Given the description of an element on the screen output the (x, y) to click on. 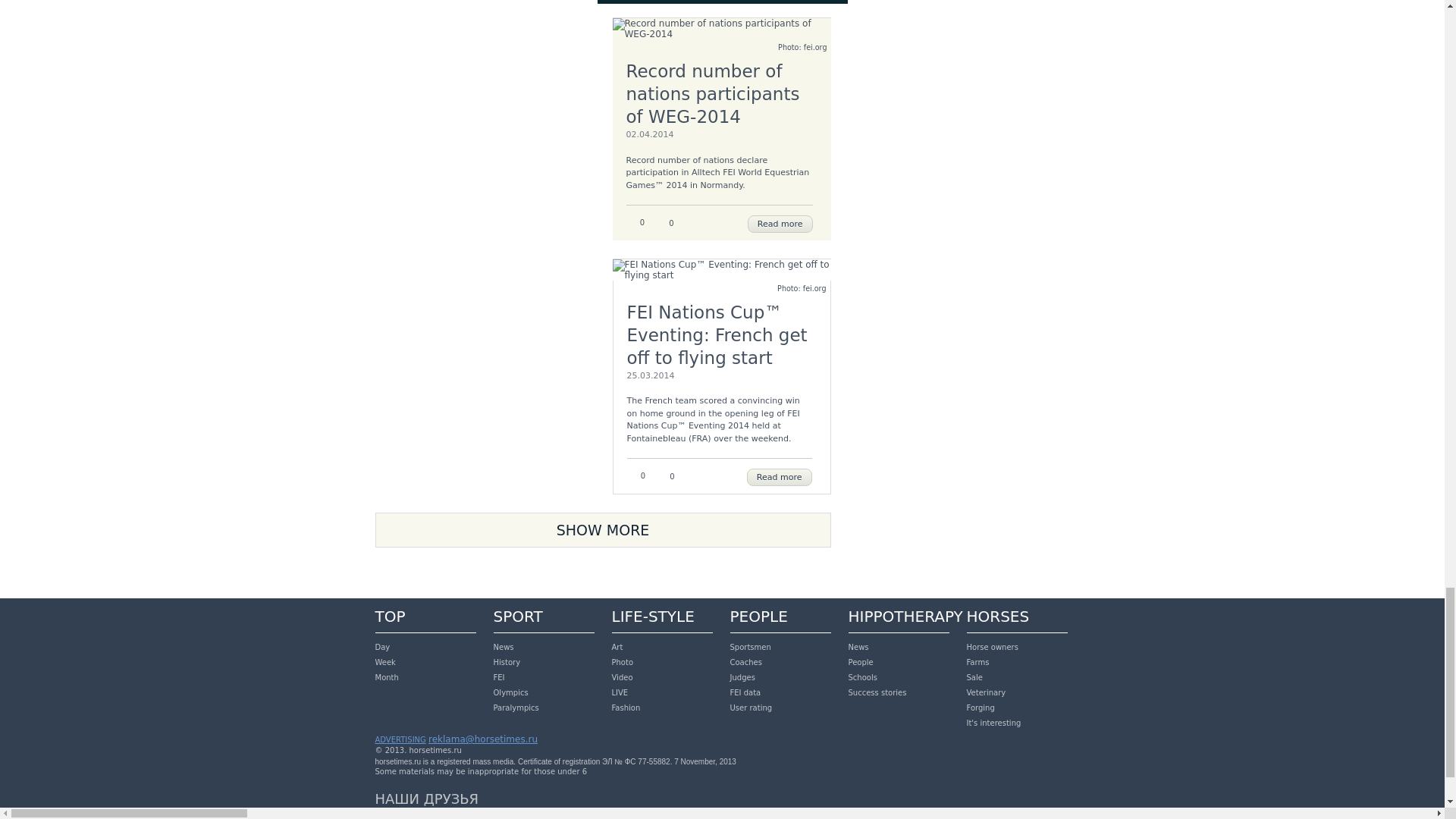
Read more (779, 477)
Read more (780, 223)
SHOW MORE (601, 529)
